Given the description of an element on the screen output the (x, y) to click on. 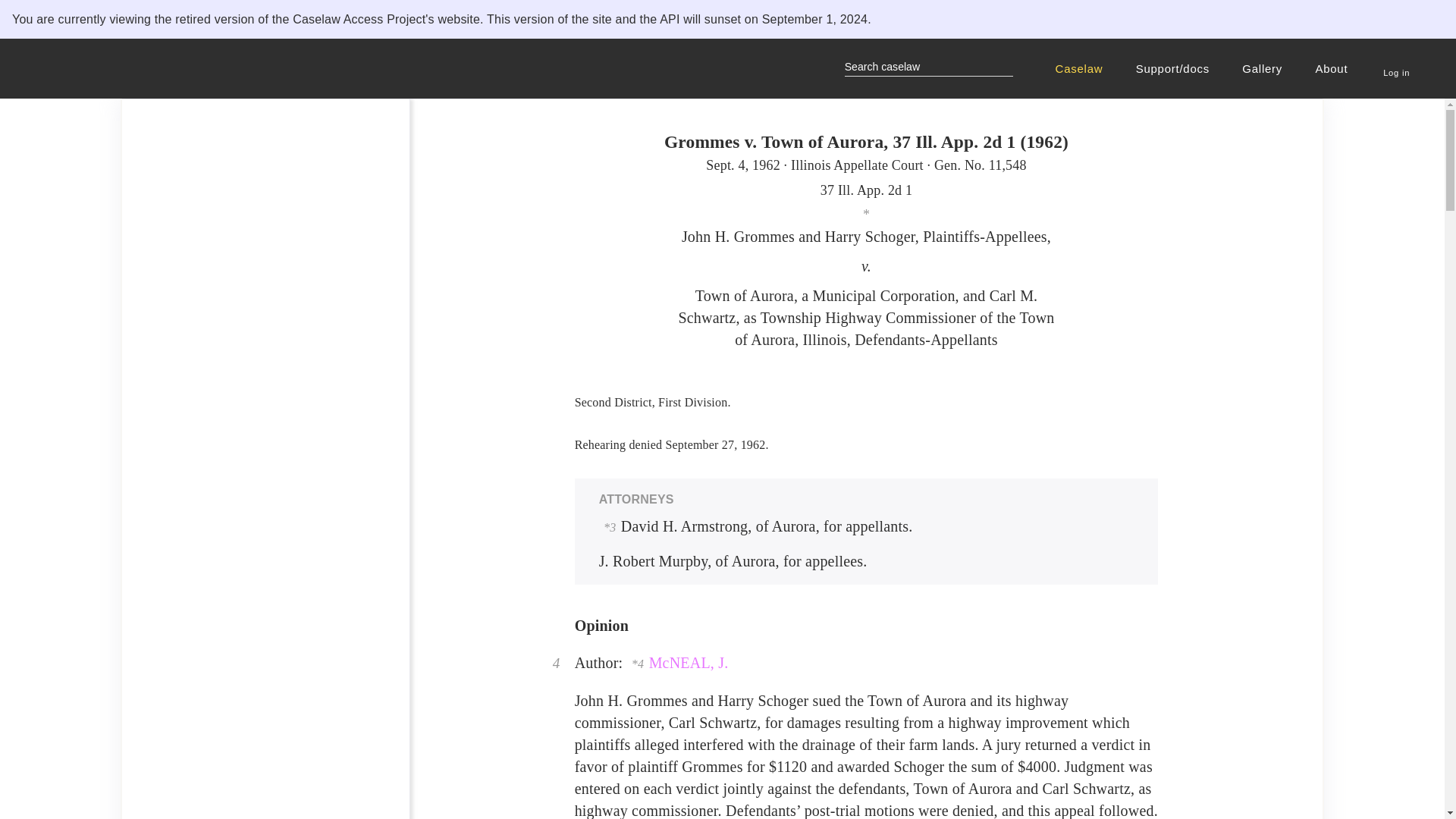
Caselaw (1081, 68)
Log in (1396, 64)
Gallery (1264, 68)
About (1332, 68)
